Given the description of an element on the screen output the (x, y) to click on. 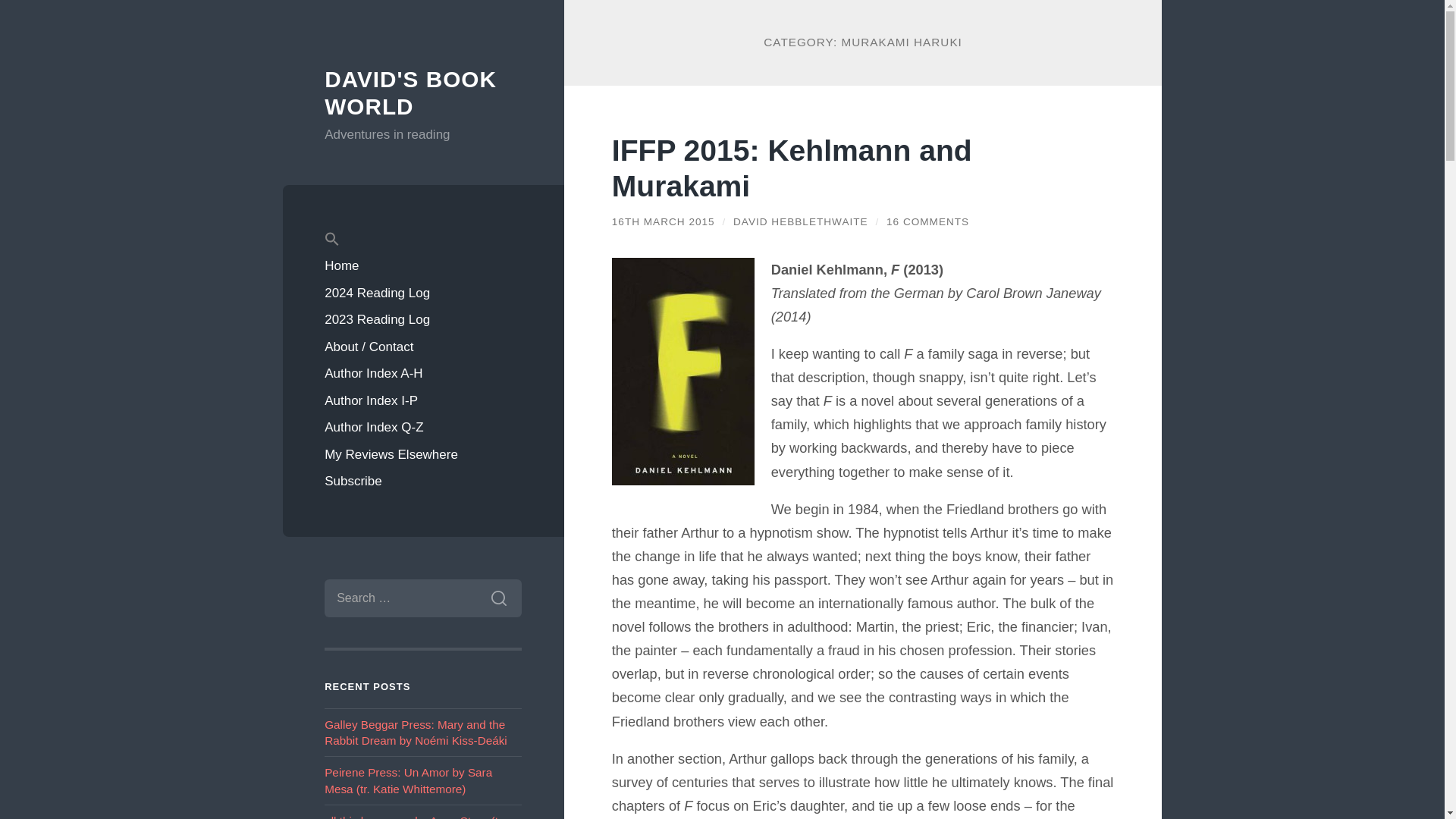
2024 Reading Log (422, 293)
My Reviews Elsewhere (422, 454)
Author Index I-P (422, 400)
Subscribe (422, 481)
Author Index Q-Z (422, 427)
DAVID'S BOOK WORLD (410, 92)
Home (422, 266)
Search (498, 598)
2023 Reading Log (422, 319)
Posts by David Hebblethwaite (800, 221)
Search (498, 598)
Author Index A-H (422, 373)
Search (498, 598)
